Given the description of an element on the screen output the (x, y) to click on. 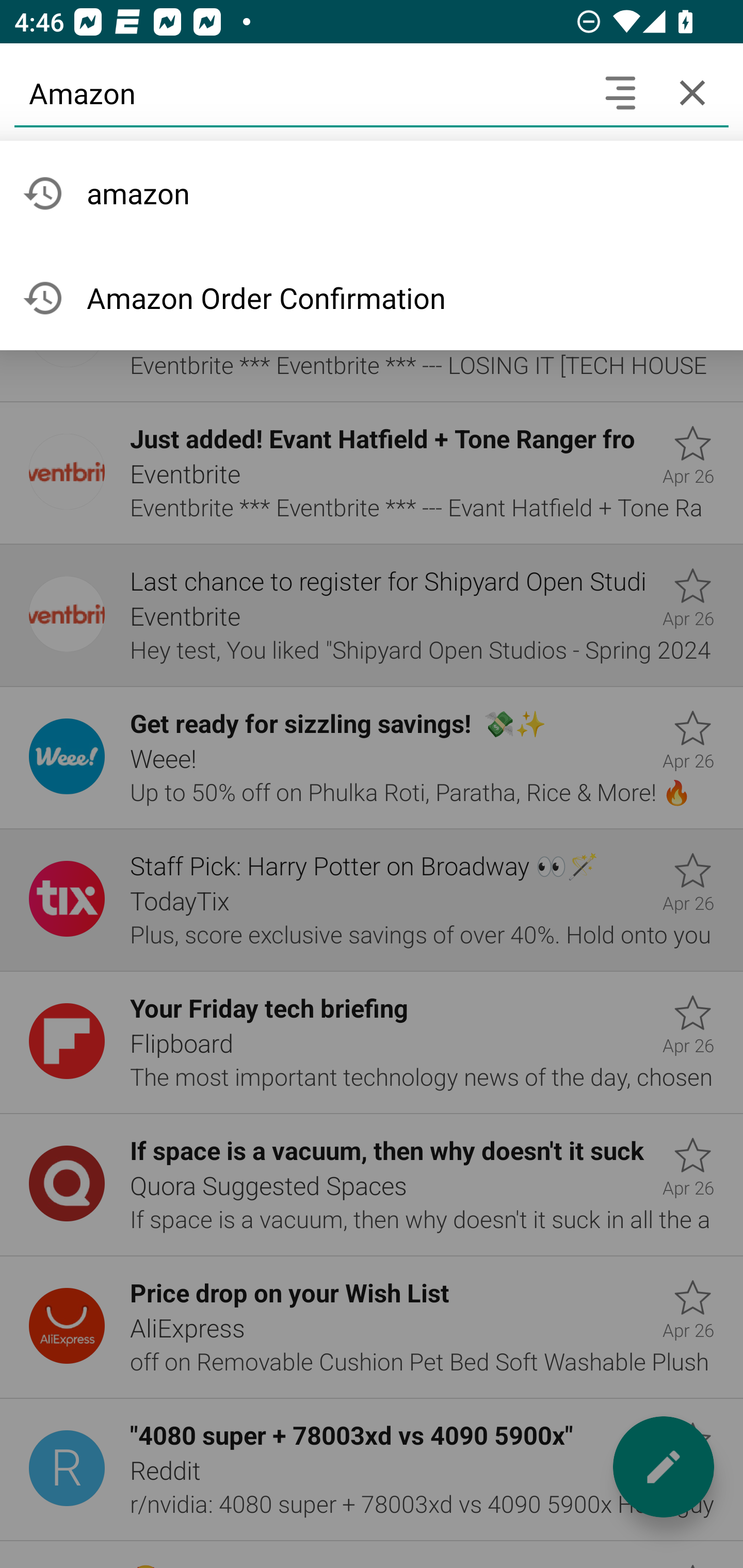
Amazon (298, 92)
Search headers and text (619, 92)
Cancel (692, 92)
